Given the description of an element on the screen output the (x, y) to click on. 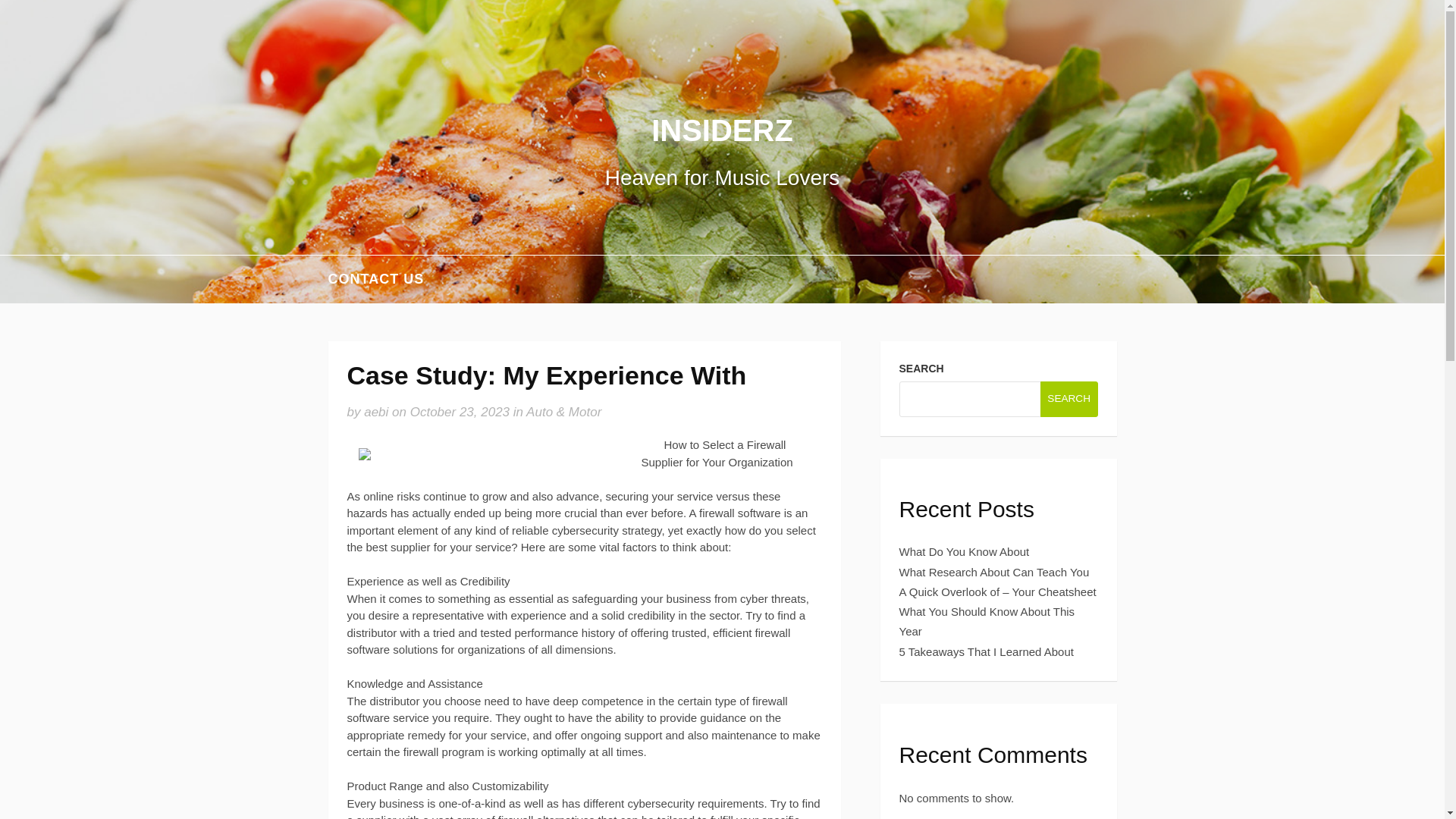
What Do You Know About (964, 551)
5 Takeaways That I Learned About (986, 651)
What Research About Can Teach You (994, 571)
October 23, 2023 (459, 411)
INSIDERZ (721, 130)
CONTACT US (375, 279)
aebi (376, 411)
SEARCH (1069, 398)
What You Should Know About This Year (987, 621)
